Given the description of an element on the screen output the (x, y) to click on. 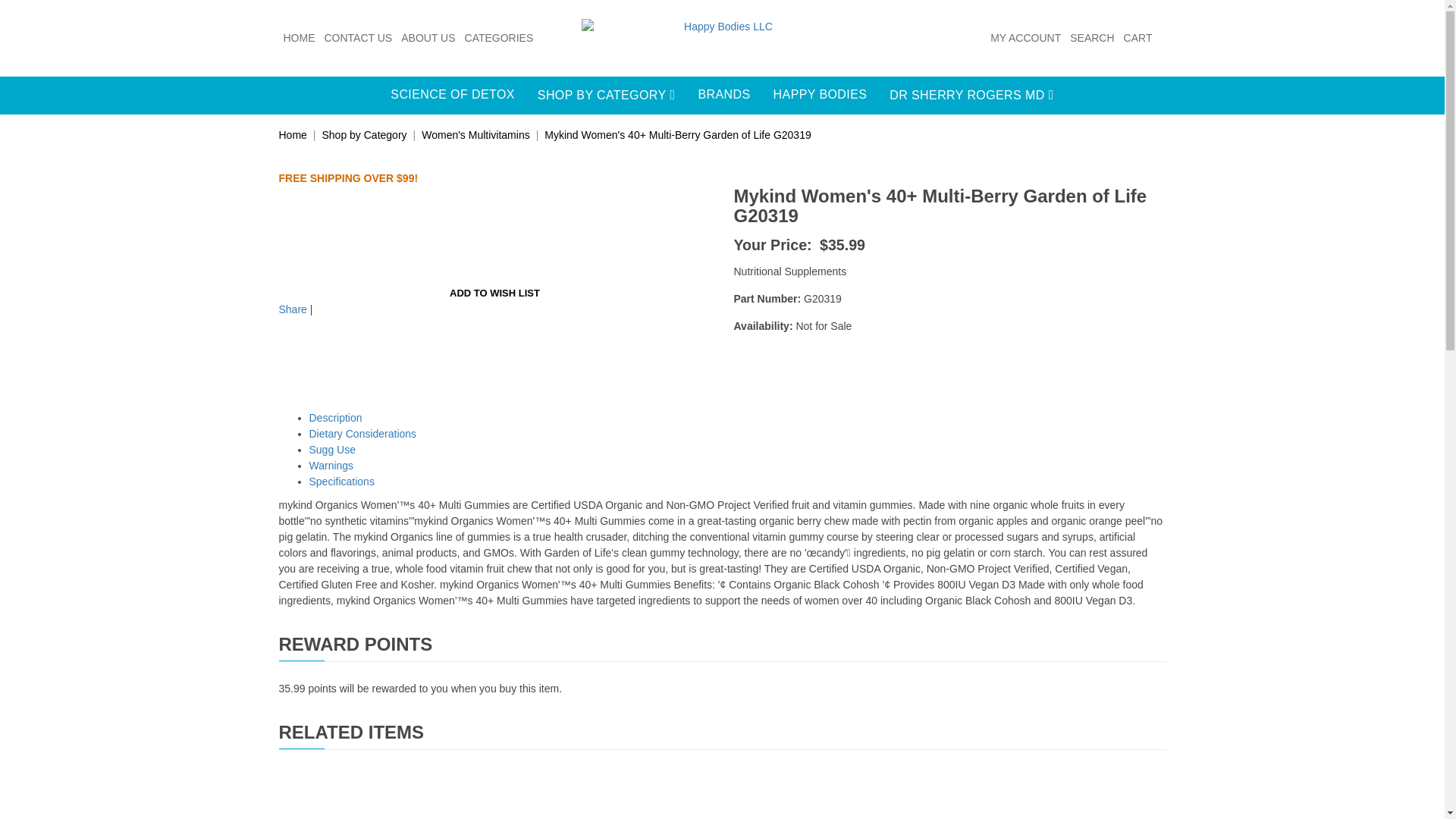
SHOP BY CATEGORY (606, 95)
MY ACCOUNT (1025, 37)
ABOUT US (427, 37)
SCIENCE OF DETOX (451, 95)
HOME (299, 37)
CART (1138, 37)
SEARCH (1091, 37)
CATEGORIES (499, 37)
CONTACT US (358, 37)
